Given the description of an element on the screen output the (x, y) to click on. 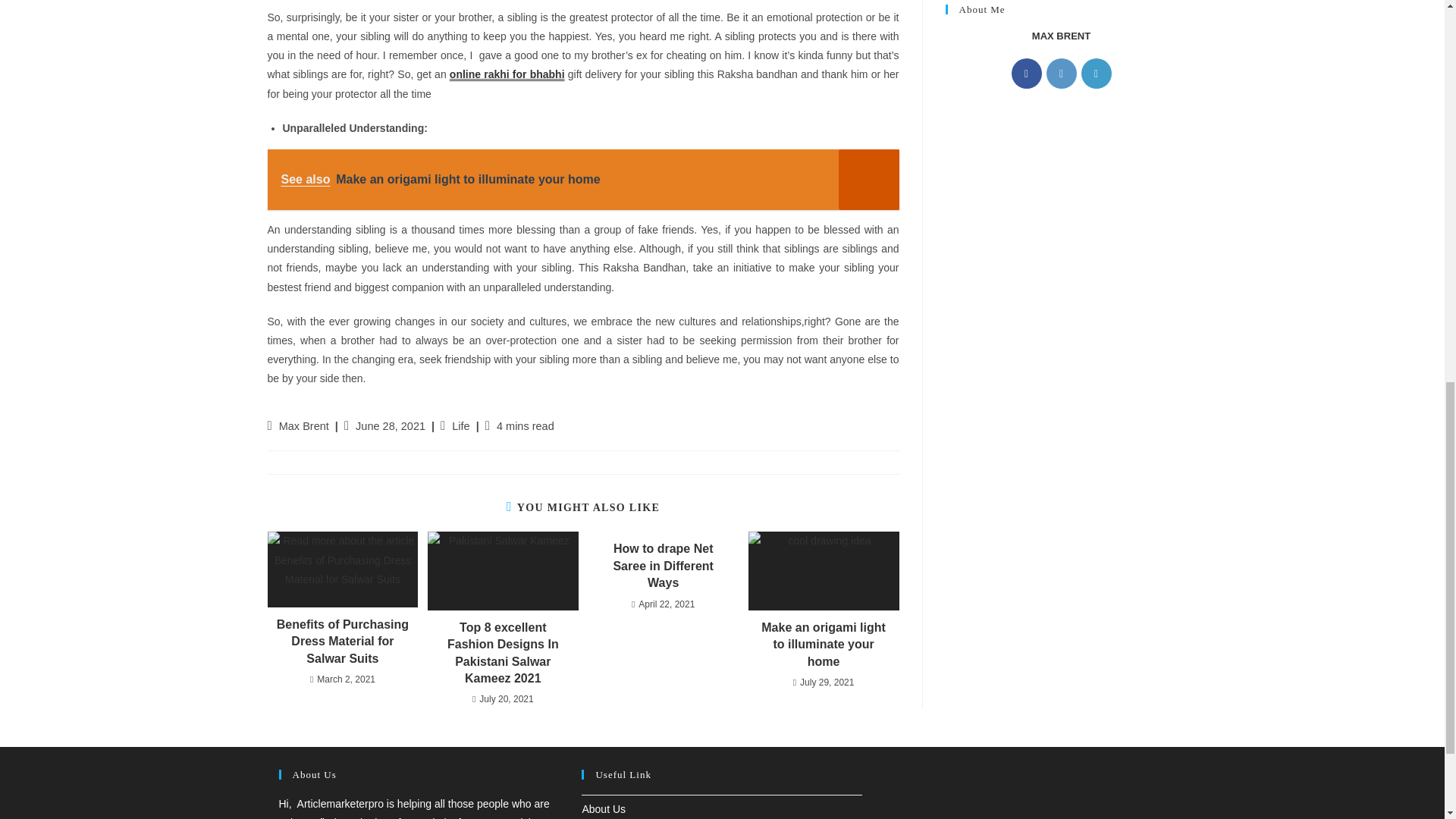
Posts by Max Brent (304, 426)
See also  Make an origami light to illuminate your home (582, 179)
online rakhi for bhabhi (506, 73)
